Given the description of an element on the screen output the (x, y) to click on. 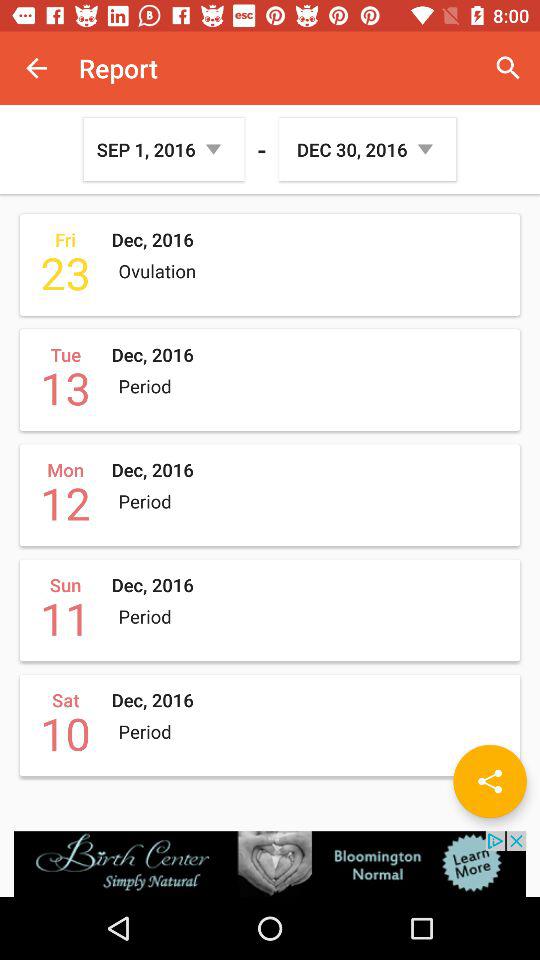
advertisement page (270, 864)
